Given the description of an element on the screen output the (x, y) to click on. 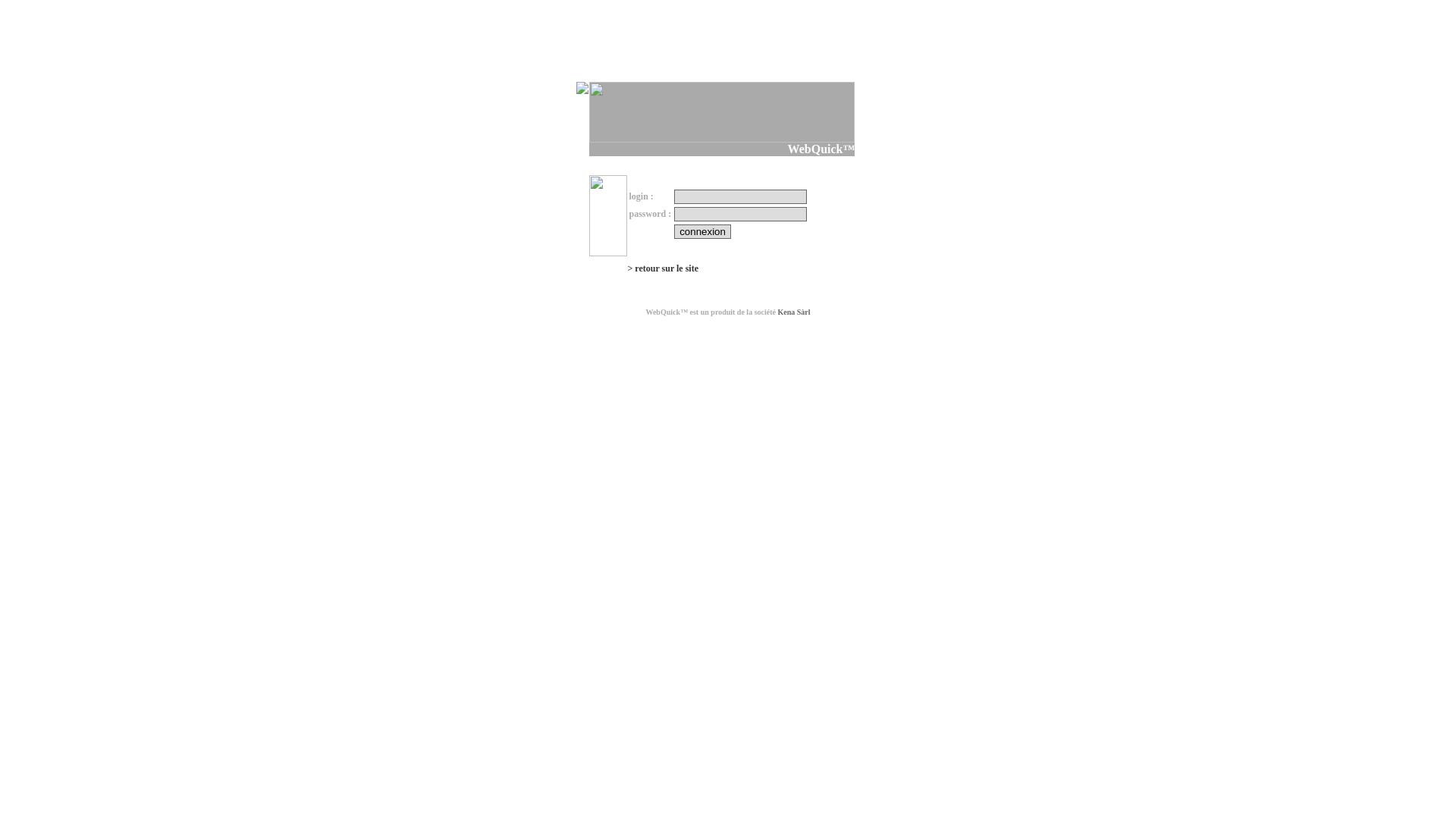
> retour sur le site Element type: text (662, 268)
connexion Element type: text (702, 231)
